Given the description of an element on the screen output the (x, y) to click on. 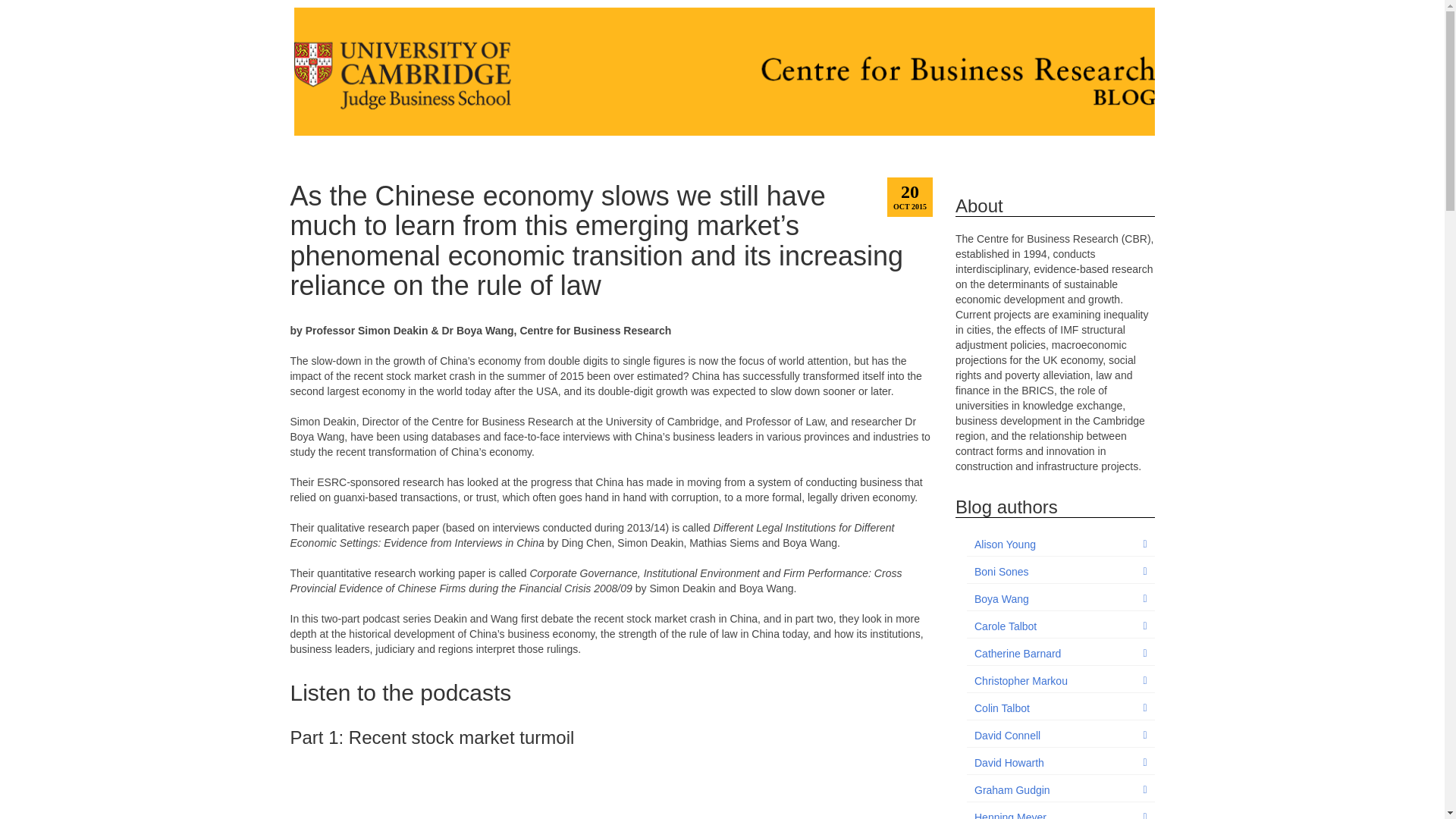
Boya Wang (1060, 599)
David Howarth (1060, 762)
Recent stock market turmoil in China by CambridgeJBS (611, 790)
Alison Young (1060, 544)
Christopher Markou (1060, 680)
David Connell (1060, 735)
Henning Meyer (1060, 812)
Boni Sones (1060, 571)
Colin Talbot (1060, 708)
Carole Talbot (1060, 626)
Graham Gudgin (1060, 790)
Catherine Barnard (1060, 653)
